Given the description of an element on the screen output the (x, y) to click on. 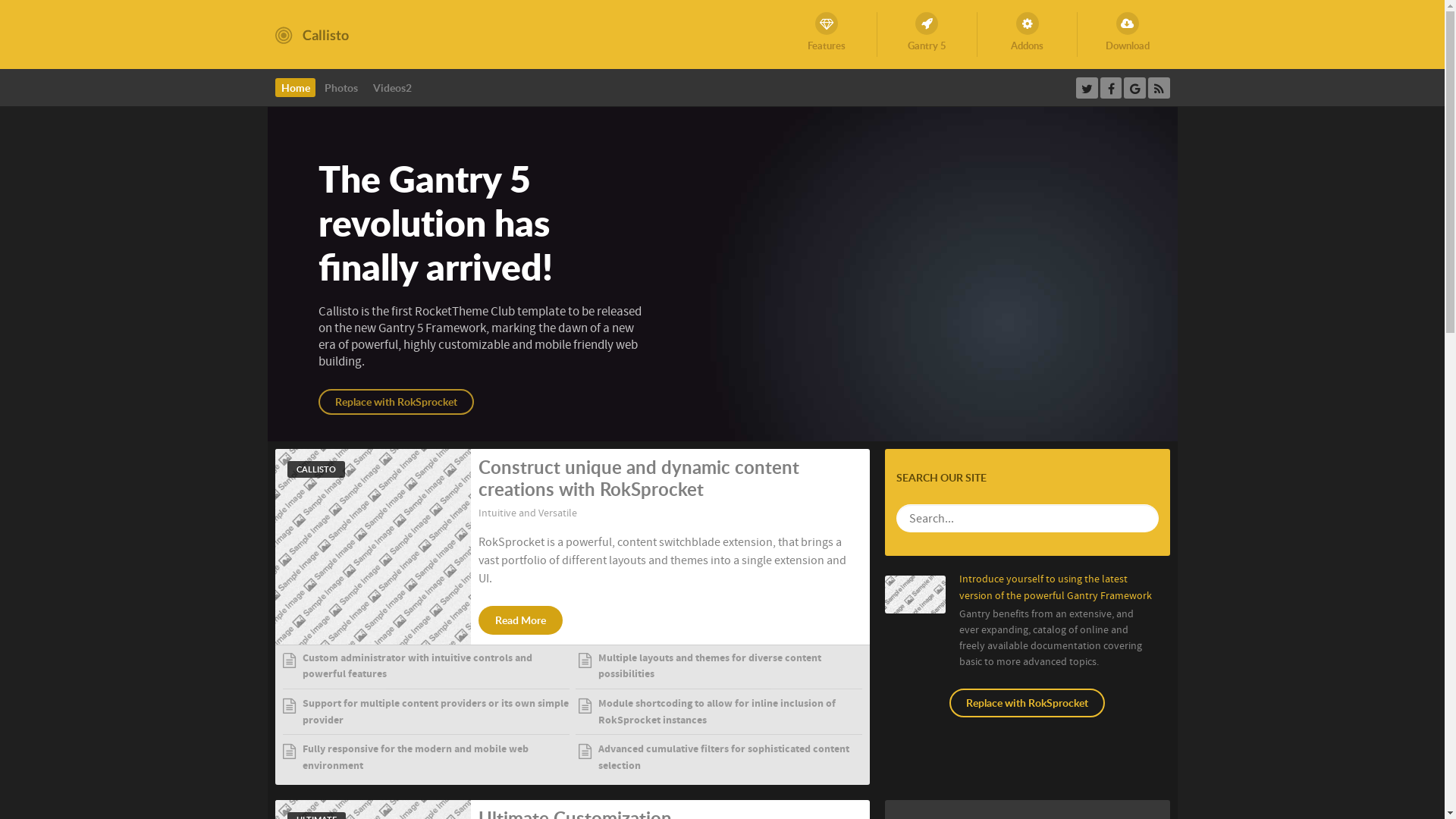
Fully responsive for the modern and mobile web environment Element type: text (423, 759)
Home Element type: text (295, 87)
Photos Element type: text (341, 87)
Features Element type: text (826, 34)
Addons Element type: text (1027, 34)
Gantry 5 Element type: text (927, 34)
Callisto Element type: hover (311, 33)
Download Element type: text (1126, 34)
Replace with RokSprocket Element type: text (395, 402)
Read More Element type: text (520, 619)
Videos2 Element type: text (392, 87)
Replace with RokSprocket Element type: text (1026, 702)
